Given the description of an element on the screen output the (x, y) to click on. 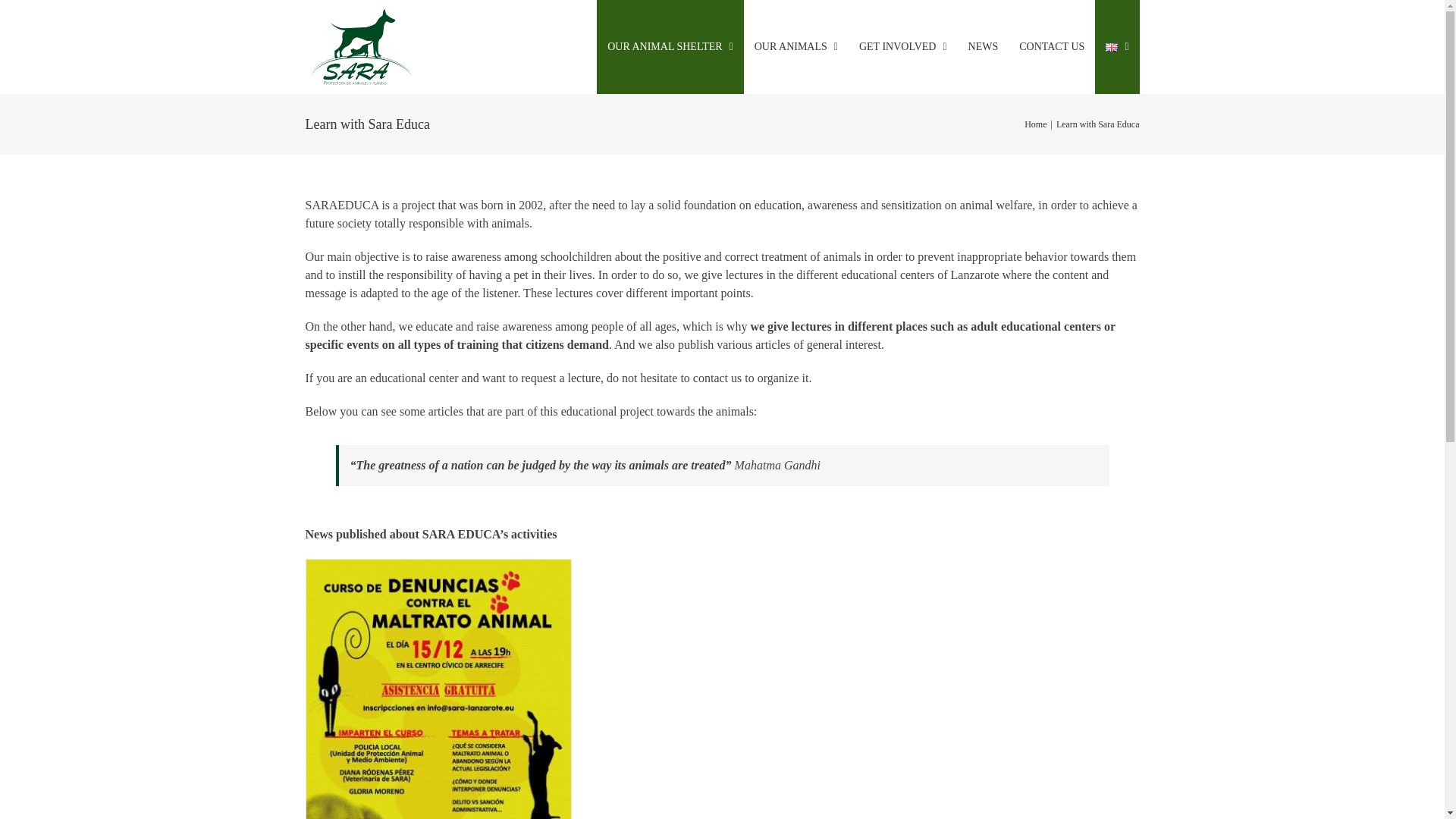
GET INVOLVED (903, 47)
OUR ANIMAL SHELTER (670, 47)
OUR ANIMALS (796, 47)
CONTACT US (1051, 47)
